Given the description of an element on the screen output the (x, y) to click on. 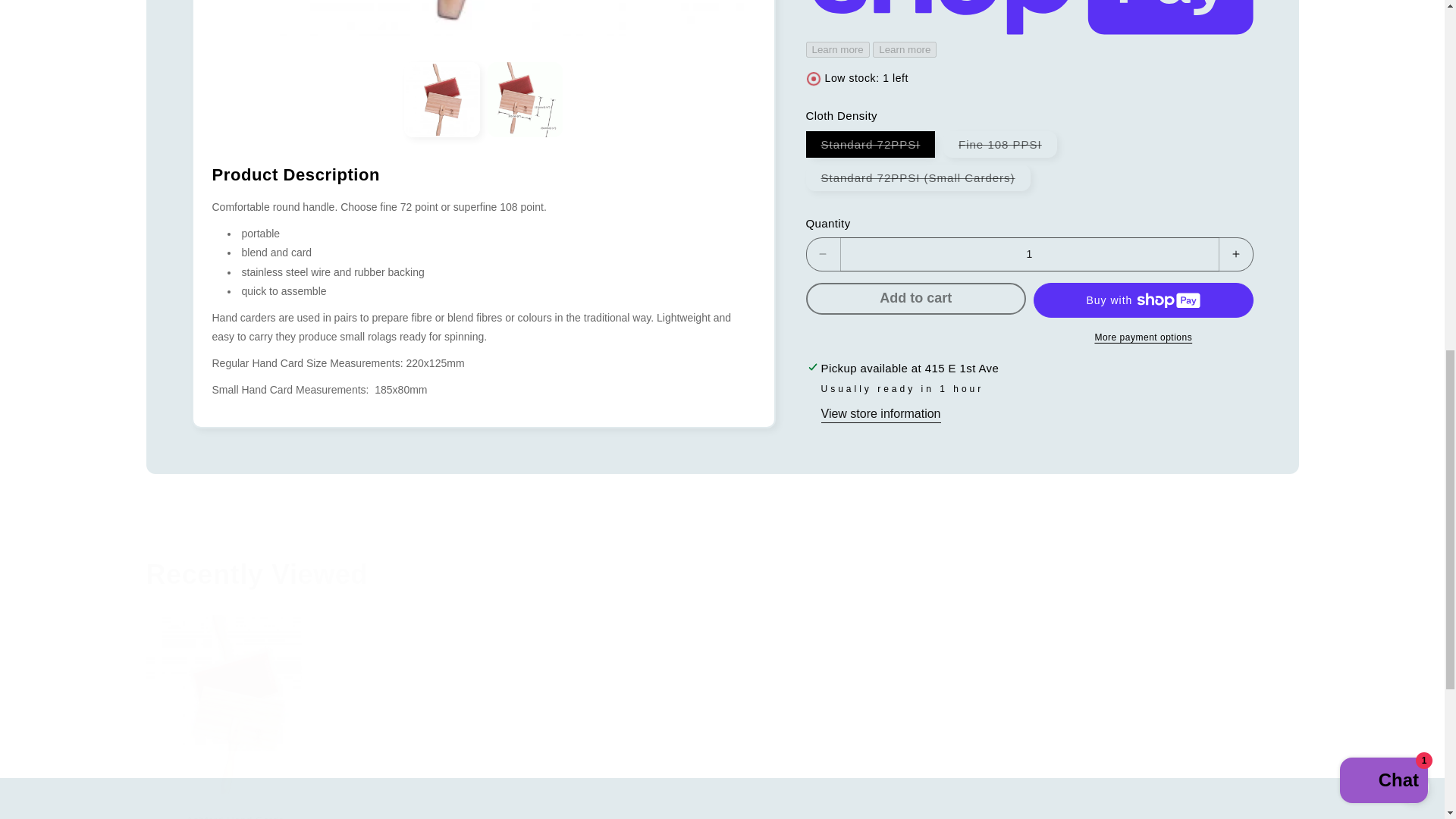
0 (482, 18)
